Given the description of an element on the screen output the (x, y) to click on. 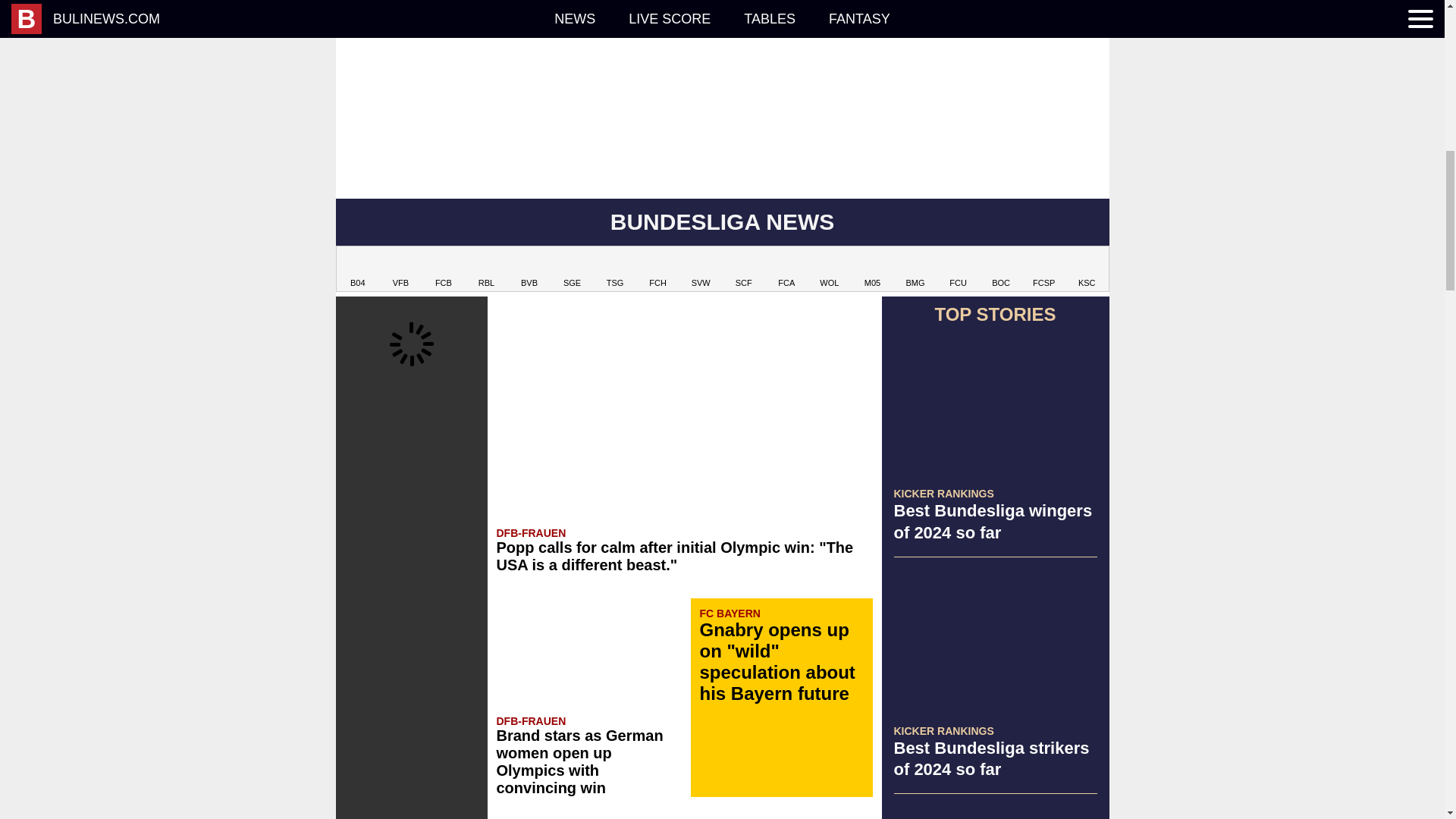
Bayer Leverkusen News (358, 269)
